Given the description of an element on the screen output the (x, y) to click on. 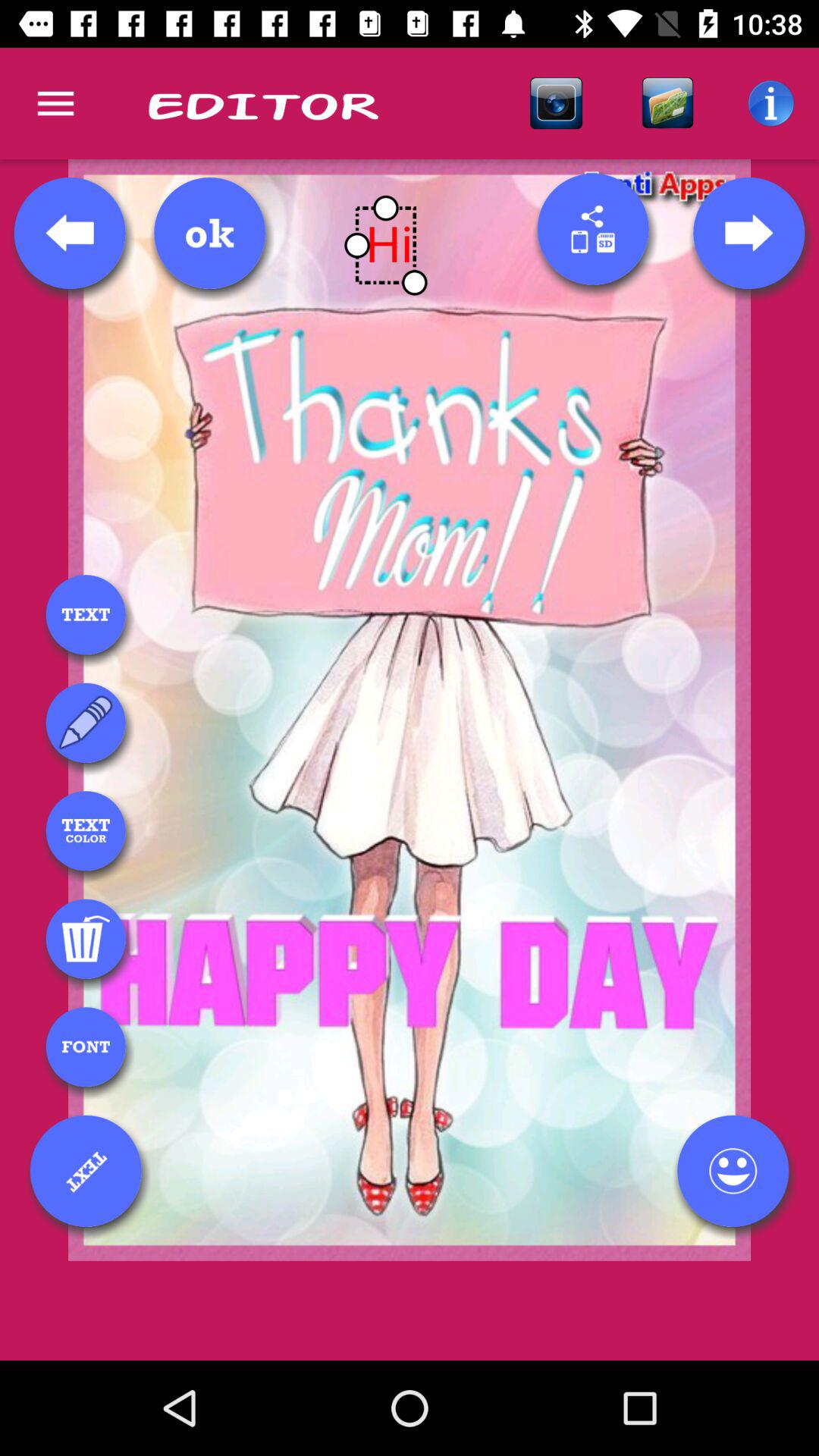
adding emoji (733, 1171)
